Given the description of an element on the screen output the (x, y) to click on. 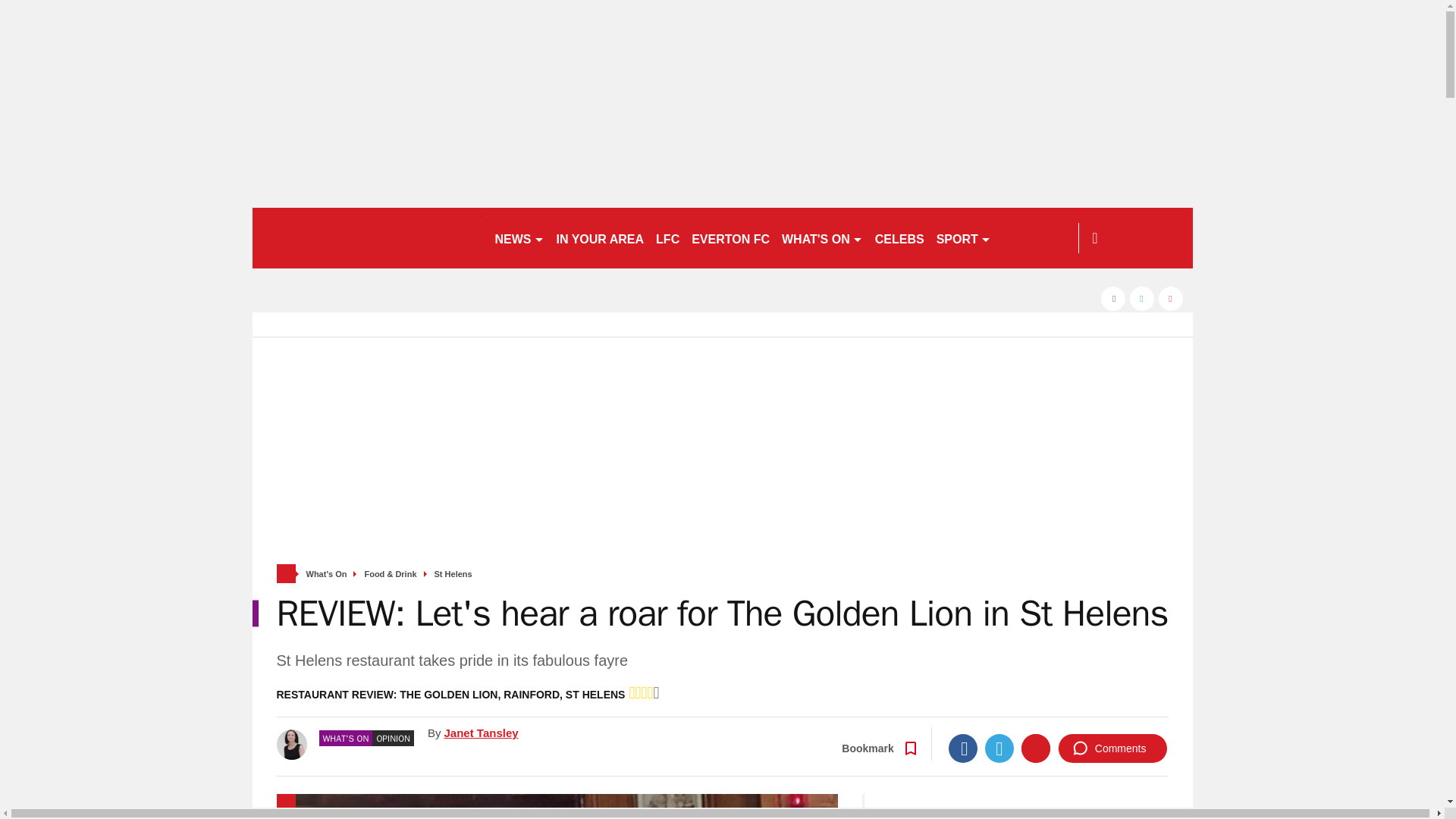
facebook (1112, 298)
Comments (1112, 747)
SPORT (963, 238)
liverpoolecho (365, 238)
CELEBS (899, 238)
EVERTON FC (730, 238)
IN YOUR AREA (600, 238)
instagram (1170, 298)
Twitter (999, 747)
Facebook (962, 747)
